Given the description of an element on the screen output the (x, y) to click on. 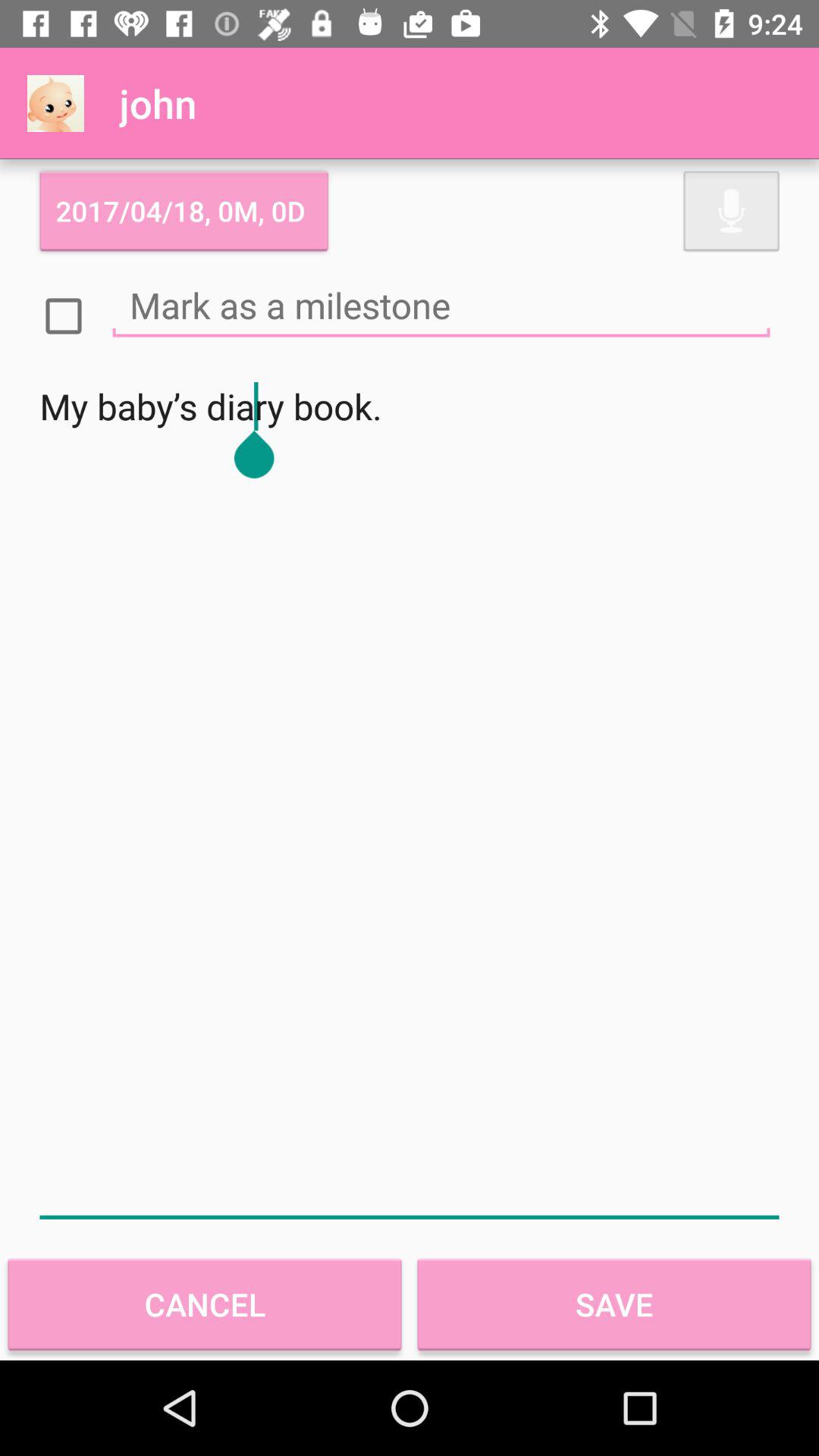
turn off the item below my baby s (614, 1304)
